Given the description of an element on the screen output the (x, y) to click on. 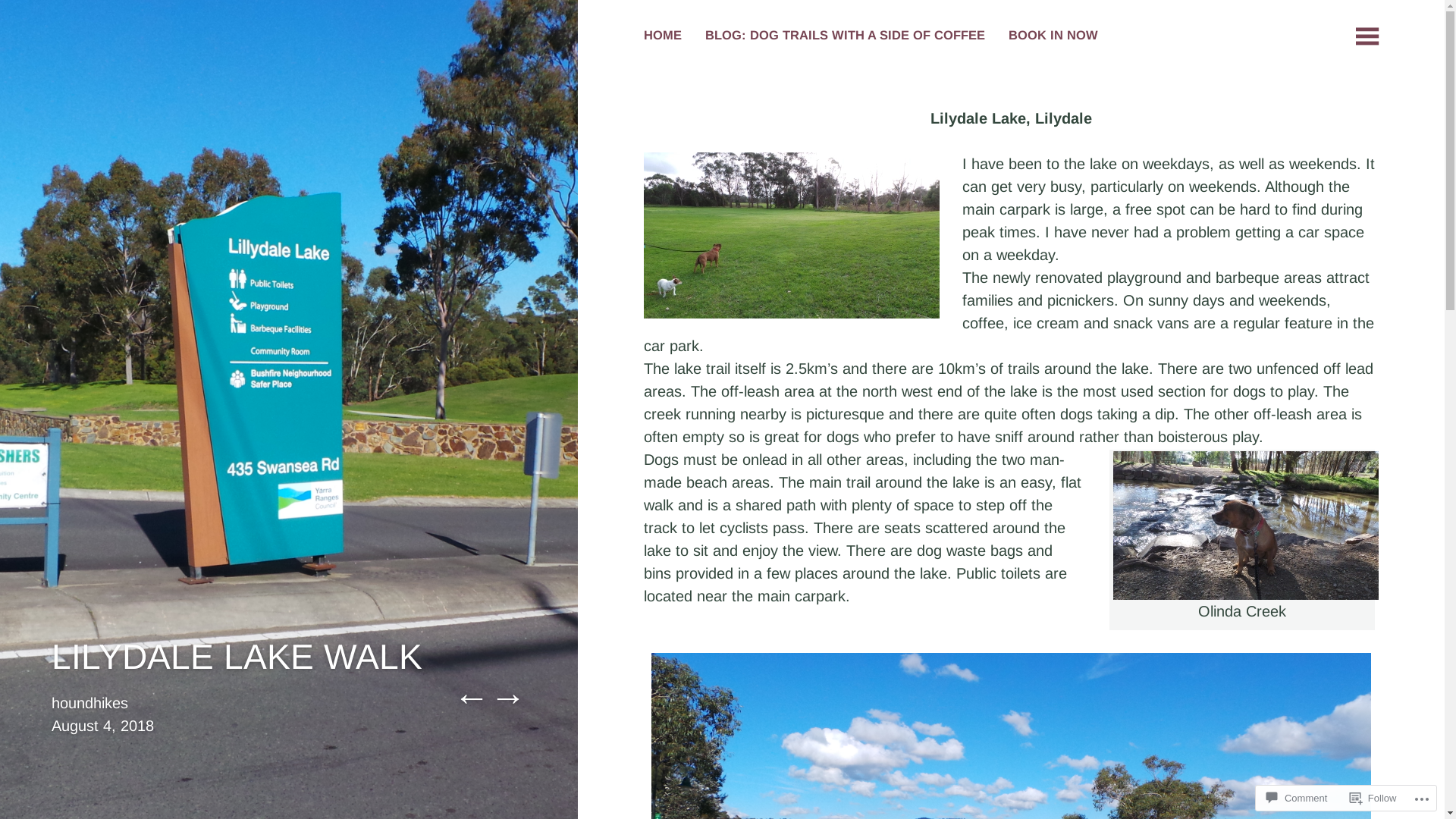
August 4, 2018 Element type: text (102, 725)
BOOK IN NOW Element type: text (1053, 36)
houndhikes Element type: text (89, 702)
Follow Element type: text (1372, 797)
BLOG: DOG TRAILS WITH A SIDE OF COFFEE Element type: text (845, 36)
Comment Element type: text (1296, 797)
HOME Element type: text (662, 36)
